Given the description of an element on the screen output the (x, y) to click on. 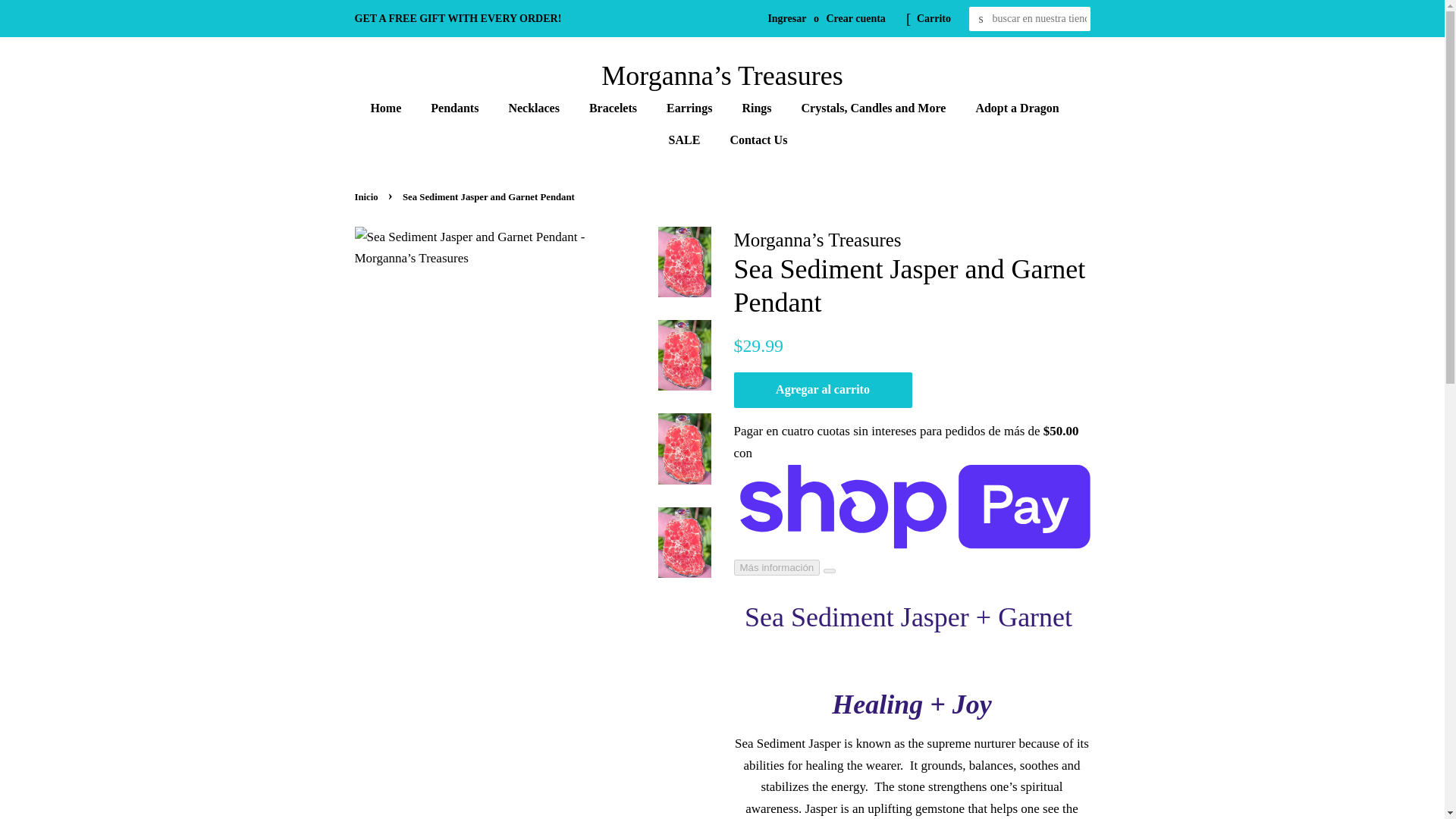
Ingresar (786, 18)
SALE (687, 139)
Crystals, Candles and More (875, 107)
Bracelets (615, 107)
Home (392, 107)
Agregar al carrito (822, 389)
Volver a la portada (368, 196)
Buscar (980, 18)
Contact Us (752, 139)
Crear cuenta (855, 18)
